Given the description of an element on the screen output the (x, y) to click on. 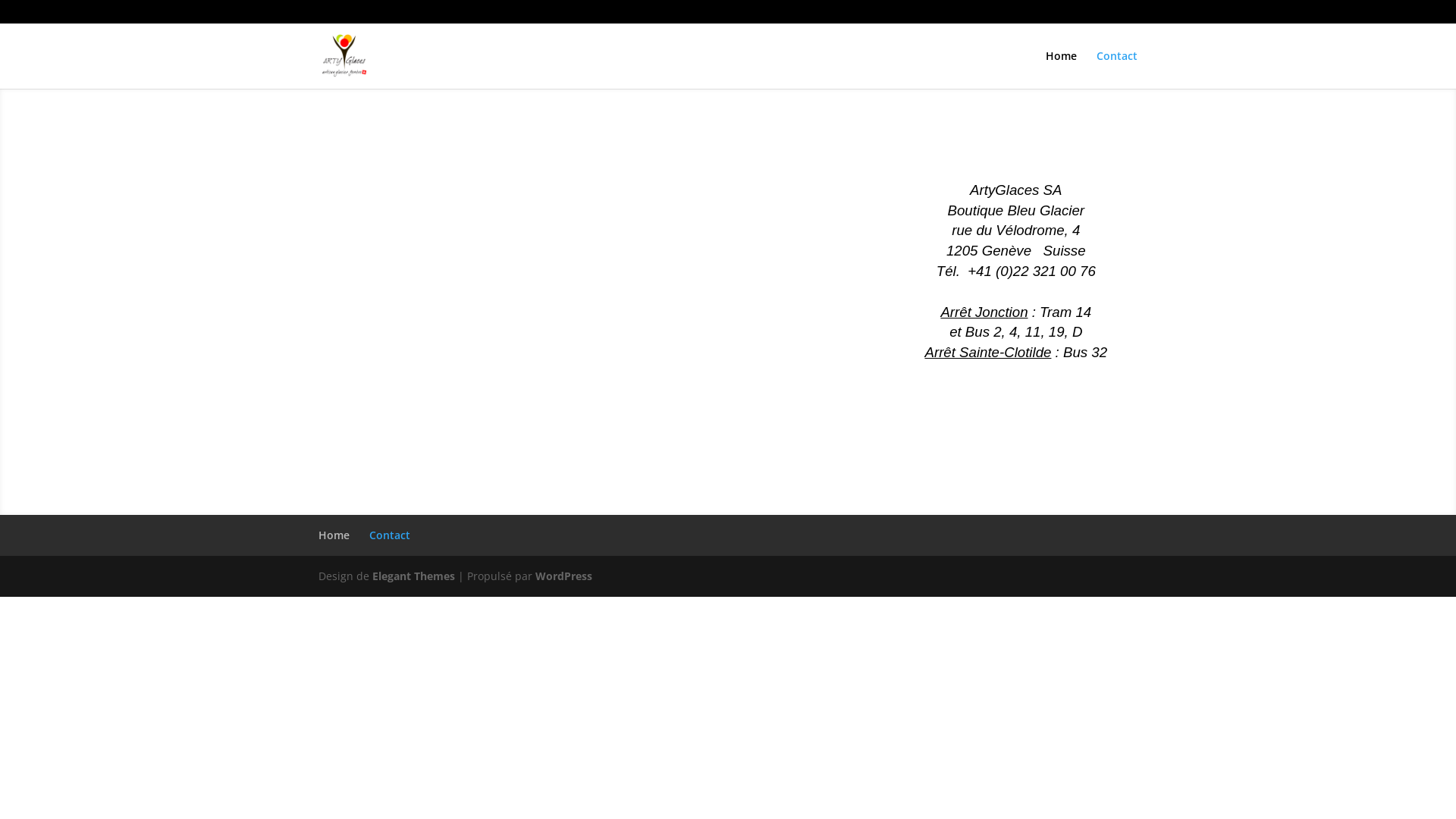
Elegant Themes Element type: text (413, 575)
WordPress Element type: text (563, 575)
Home Element type: text (333, 534)
Contact Element type: text (389, 534)
Contact Element type: text (1116, 69)
info@artyglaces.ch Element type: text (461, 11)
Home Element type: text (1060, 69)
